Given the description of an element on the screen output the (x, y) to click on. 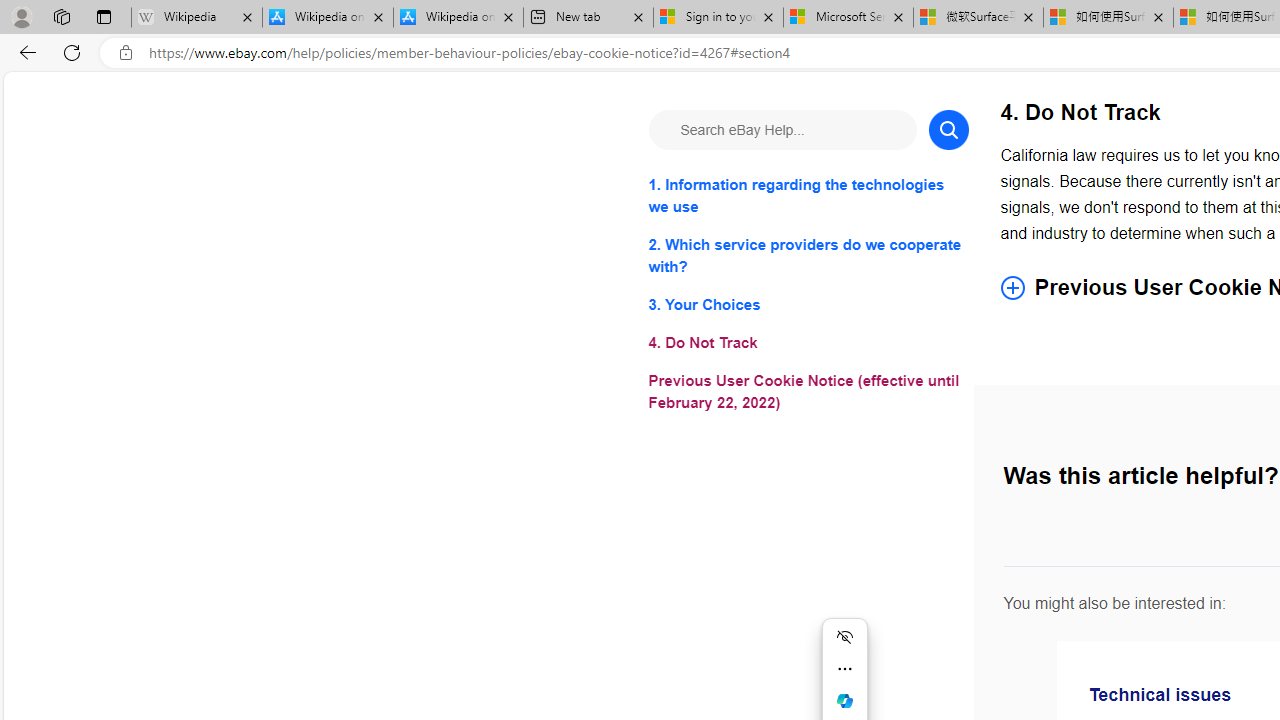
2. Which service providers do we cooperate with? (807, 256)
1. Information regarding the technologies we use (807, 196)
3. Your Choices (807, 304)
Hide menu (844, 636)
2. Which service providers do we cooperate with? (807, 256)
Search eBay Help... (781, 129)
